Given the description of an element on the screen output the (x, y) to click on. 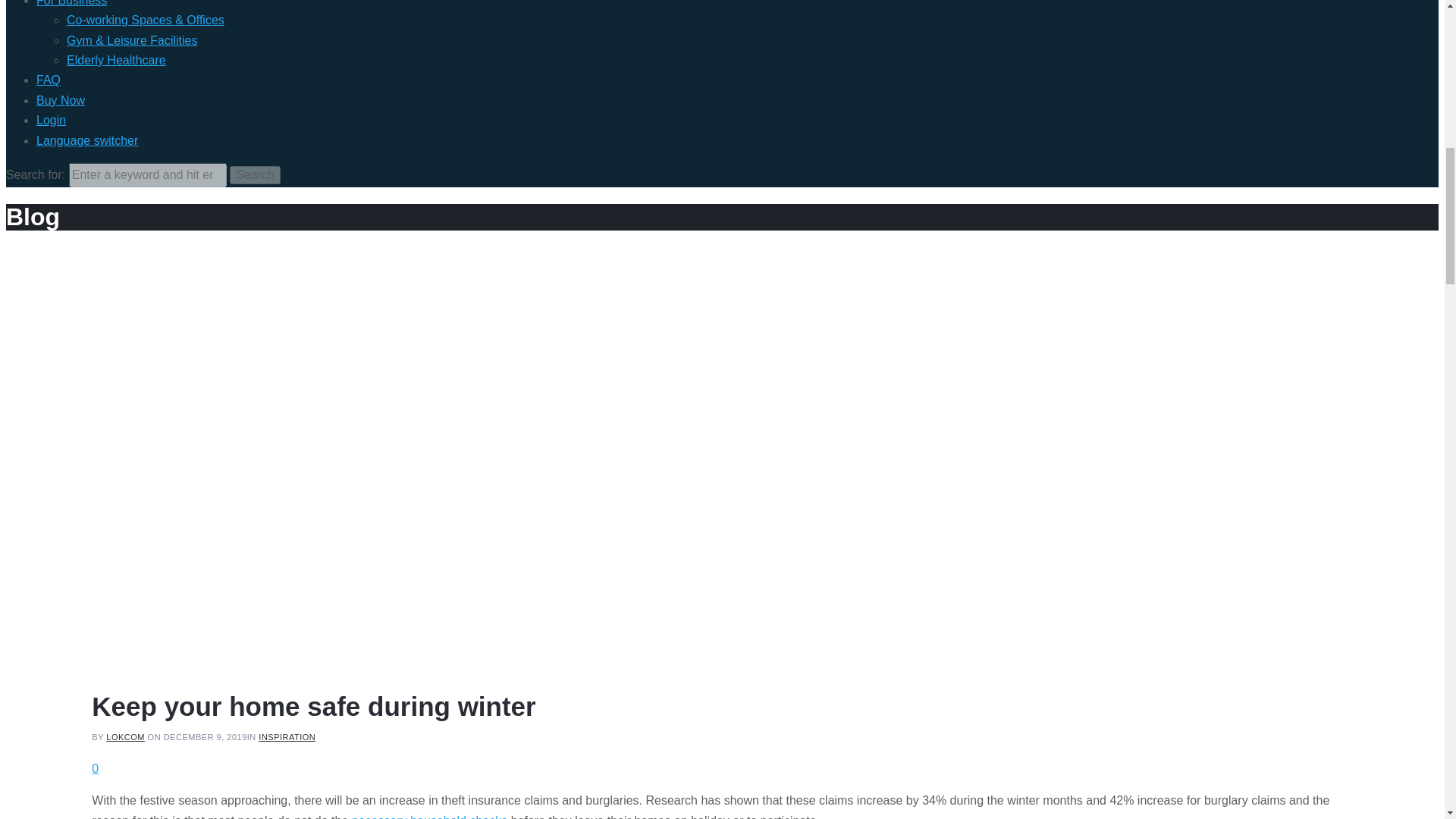
FAQ (48, 79)
Posts by Lokcom (125, 737)
Search (255, 175)
Language switcher (87, 140)
Search (255, 175)
Elderly Healthcare (115, 60)
Buy Now (60, 100)
LOKCOM (125, 737)
Login (50, 119)
For Business (71, 3)
Search (255, 175)
